Given the description of an element on the screen output the (x, y) to click on. 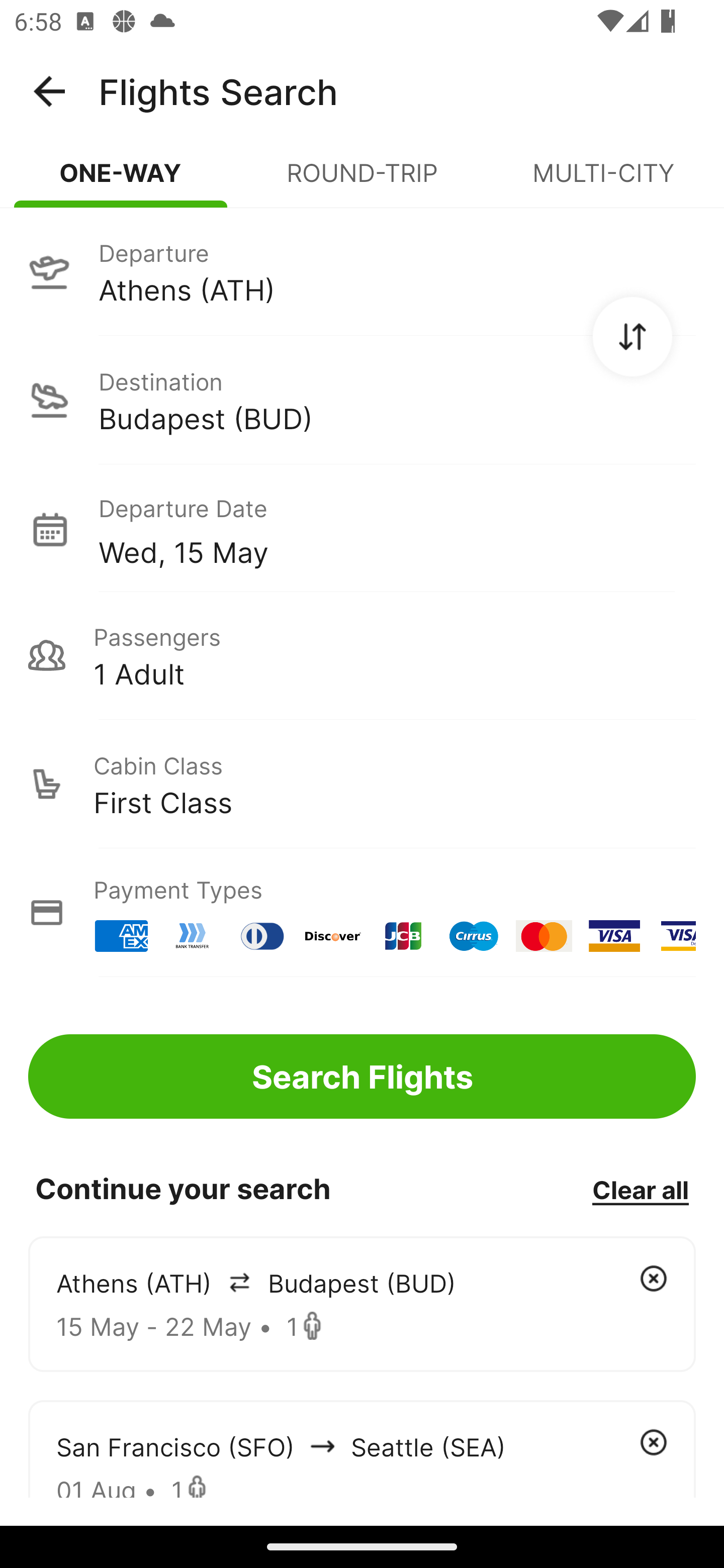
ONE-WAY (120, 180)
ROUND-TRIP (361, 180)
MULTI-CITY (603, 180)
Departure Athens (ATH) (362, 270)
Destination Budapest (BUD) (362, 400)
Departure Date Wed, 15 May (396, 528)
Passengers 1 Adult (362, 655)
Cabin Class First Class (362, 783)
Payment Types (362, 912)
Search Flights (361, 1075)
Clear all (640, 1189)
